Given the description of an element on the screen output the (x, y) to click on. 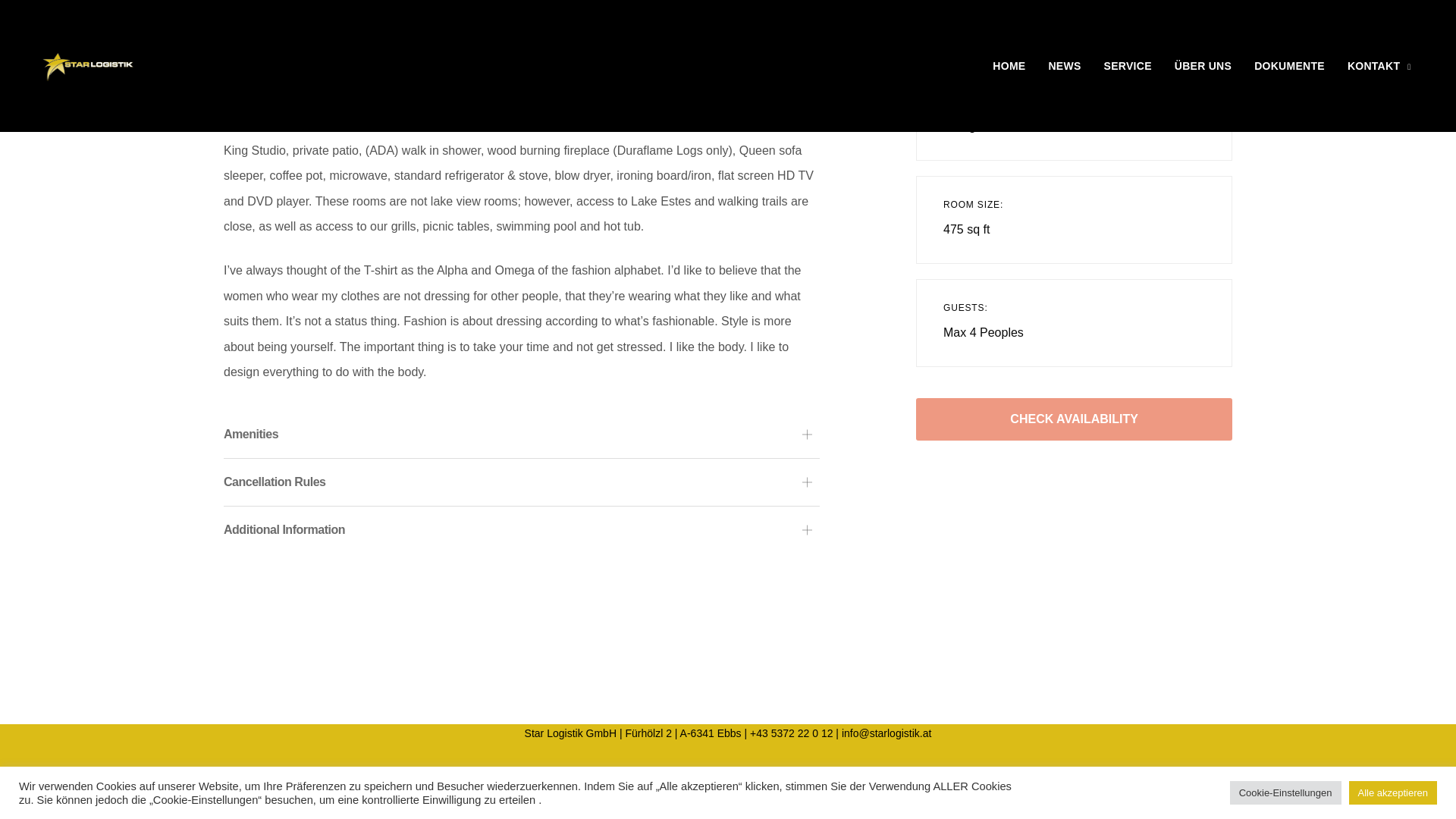
Alle akzeptieren (1392, 792)
SERVICE (1127, 65)
Cookie-Einstellungen (1285, 792)
KONTAKT (1379, 65)
CHECK AVAILABILITY (1073, 419)
Star Logistik GmbH (87, 65)
DOKUMENTE (1288, 65)
Additional Information (521, 529)
Amenities (521, 434)
Cancellation Rules (521, 482)
